Given the description of an element on the screen output the (x, y) to click on. 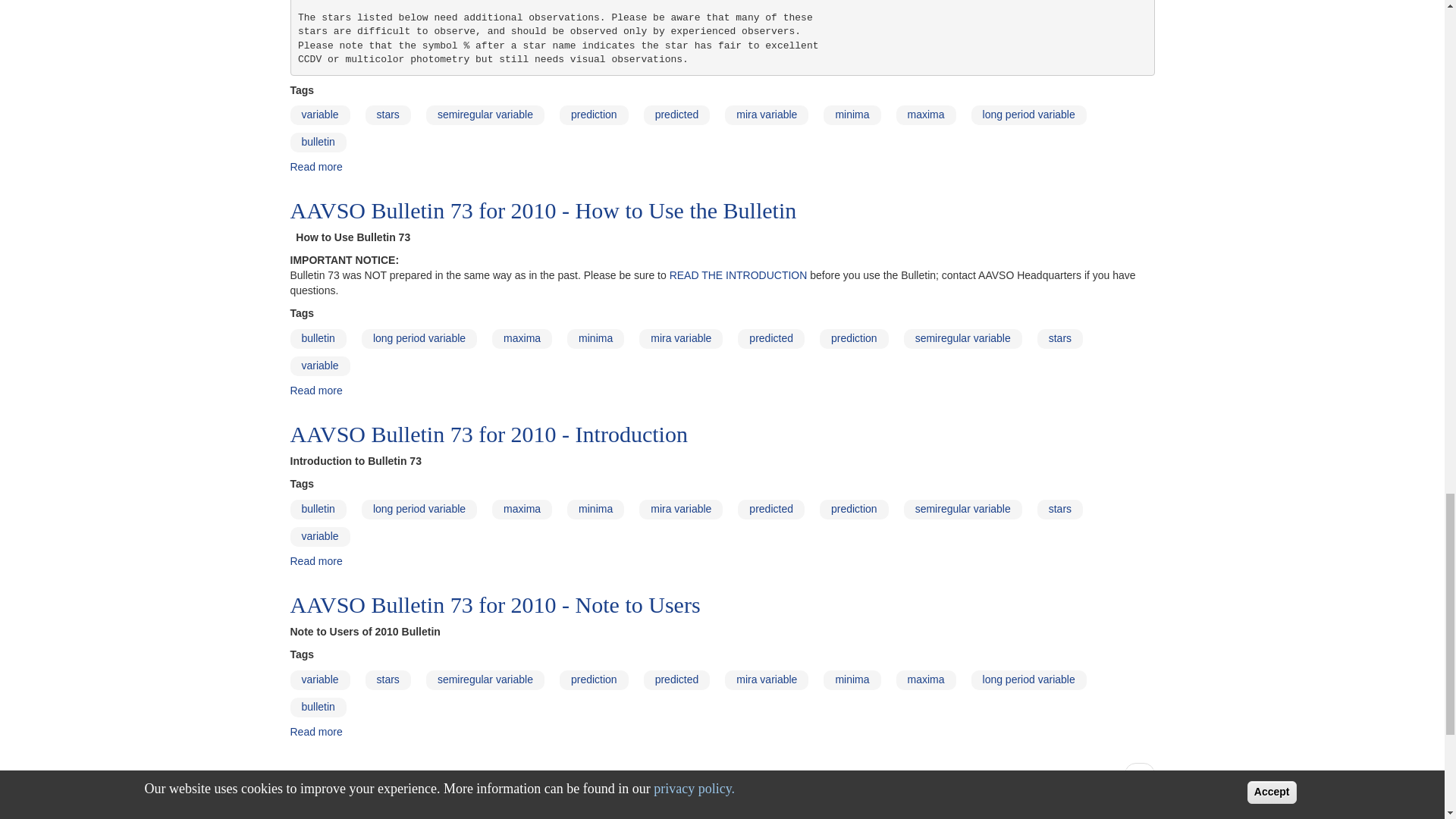
AAVSO Bulletin 73 for 2010 - Introduction (315, 561)
AAVSO Bulletin 73 for 2010 - Note to Users (315, 731)
AAVSO Bulletin 73 for 2010 - How to Use the Bulletin (315, 390)
AAVSO Bulletin 73 for 2010 - Stars in Need of Observations (315, 166)
